Given the description of an element on the screen output the (x, y) to click on. 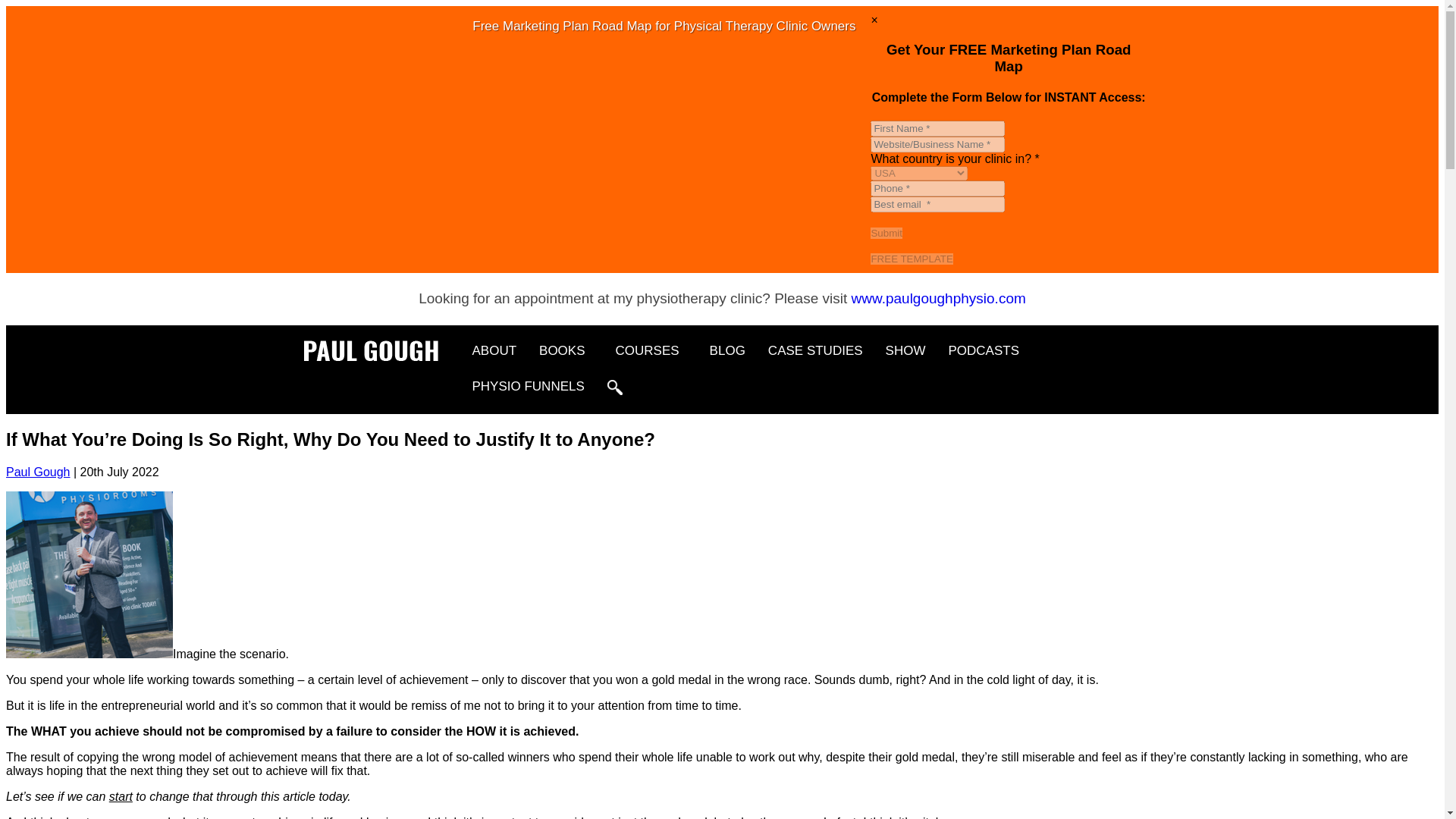
BOOKS (565, 350)
CASE STUDIES (816, 350)
SHOW (906, 350)
Submit (885, 233)
Paul Gough (37, 472)
PODCASTS (983, 350)
www.paulgoughphysio.com (938, 298)
FREE TEMPLATE (911, 258)
COURSES (651, 350)
BLOG (727, 350)
